Given the description of an element on the screen output the (x, y) to click on. 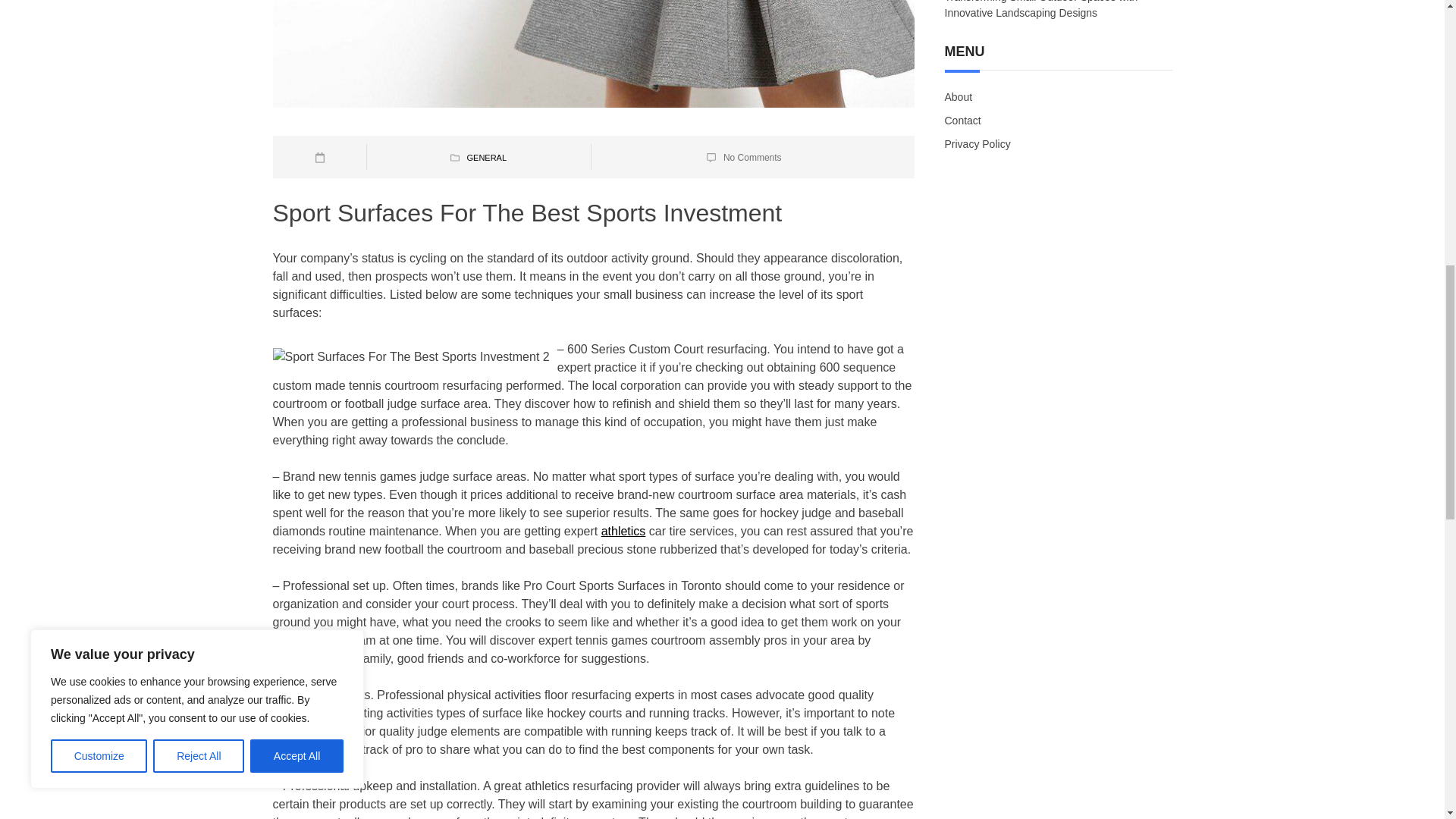
No Comments (752, 157)
GENERAL (485, 157)
athletics (623, 530)
